Given the description of an element on the screen output the (x, y) to click on. 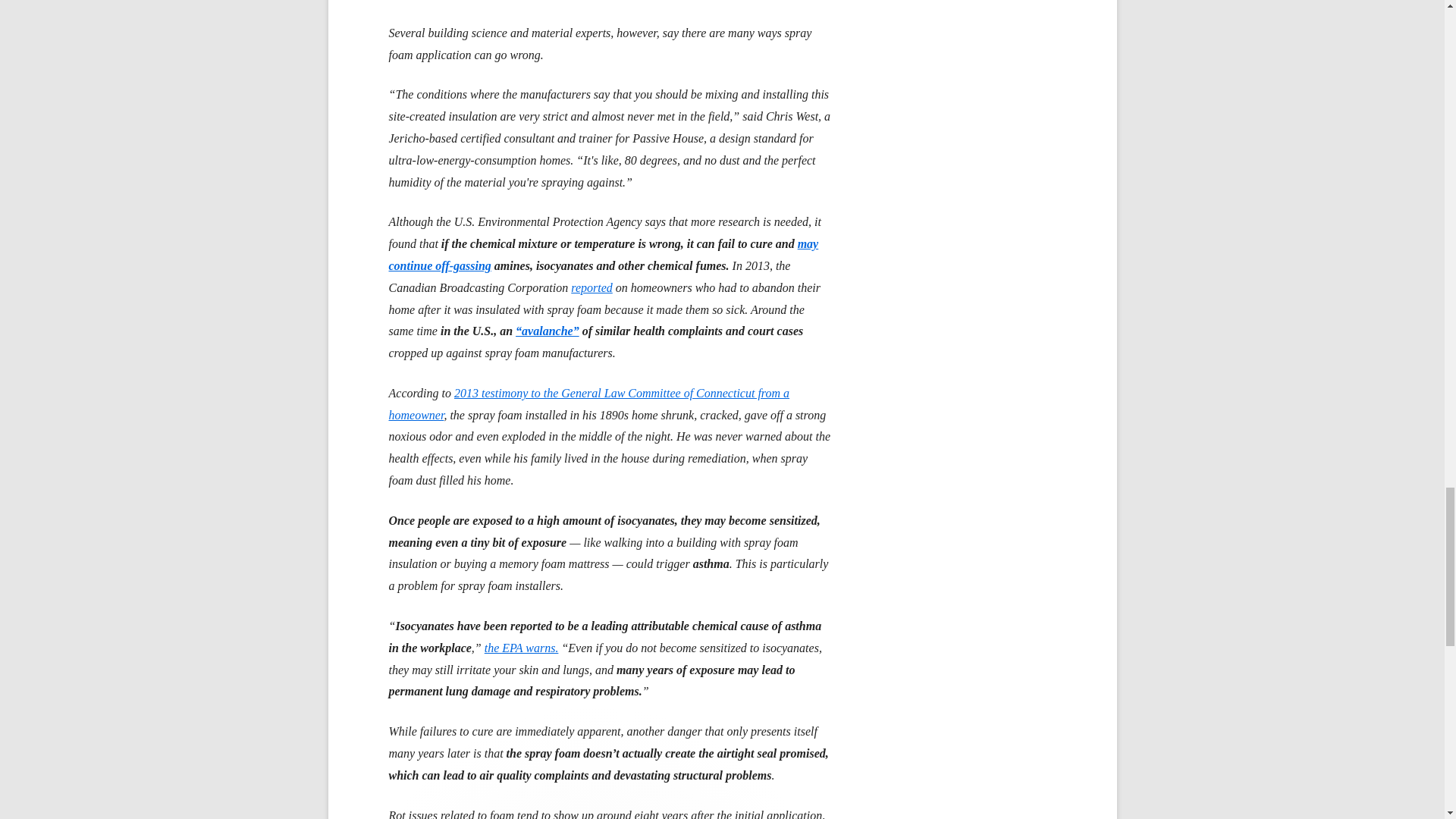
reported (591, 287)
may continue off-gassing (603, 254)
the EPA warns. (521, 647)
